Given the description of an element on the screen output the (x, y) to click on. 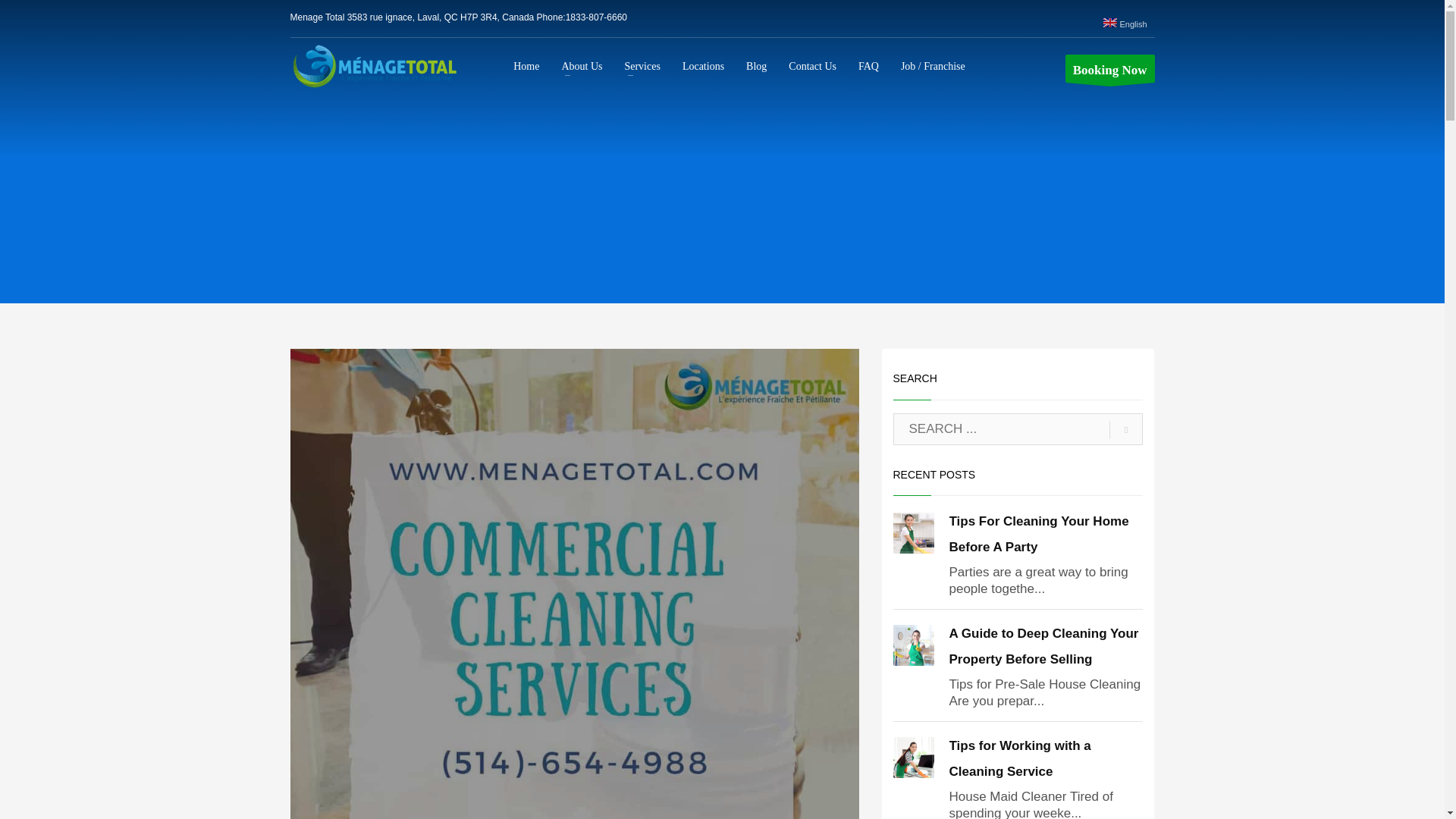
Montreal Cleaning Services (641, 66)
Menage Total Cleaning Services (581, 66)
English (1125, 24)
Booking Now (1109, 68)
English (1125, 24)
Home (525, 66)
Locations (702, 66)
Services (641, 66)
